Given the description of an element on the screen output the (x, y) to click on. 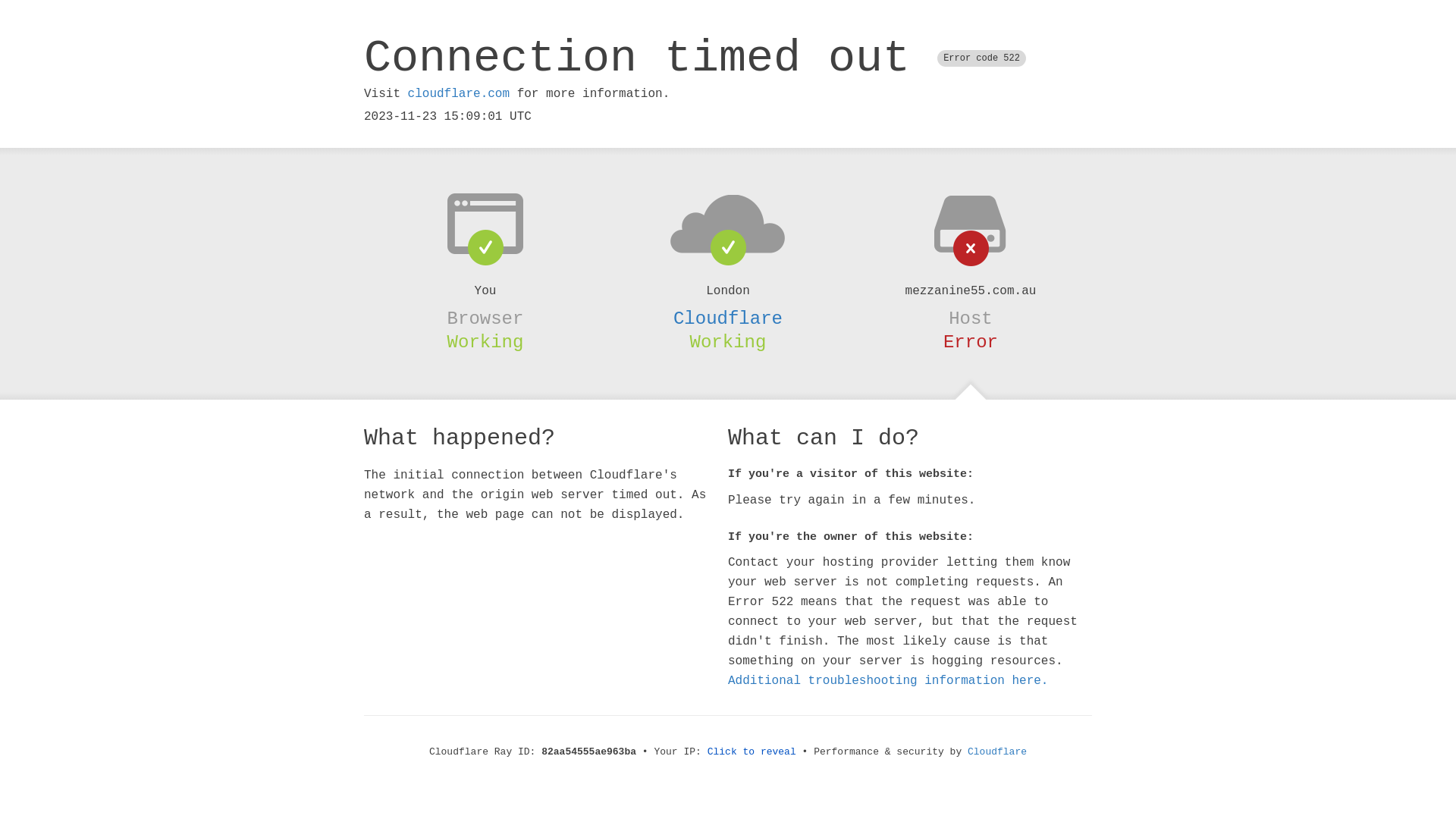
Cloudflare Element type: text (996, 751)
Click to reveal Element type: text (751, 751)
cloudflare.com Element type: text (458, 93)
Cloudflare Element type: text (727, 318)
Additional troubleshooting information here. Element type: text (888, 680)
